Given the description of an element on the screen output the (x, y) to click on. 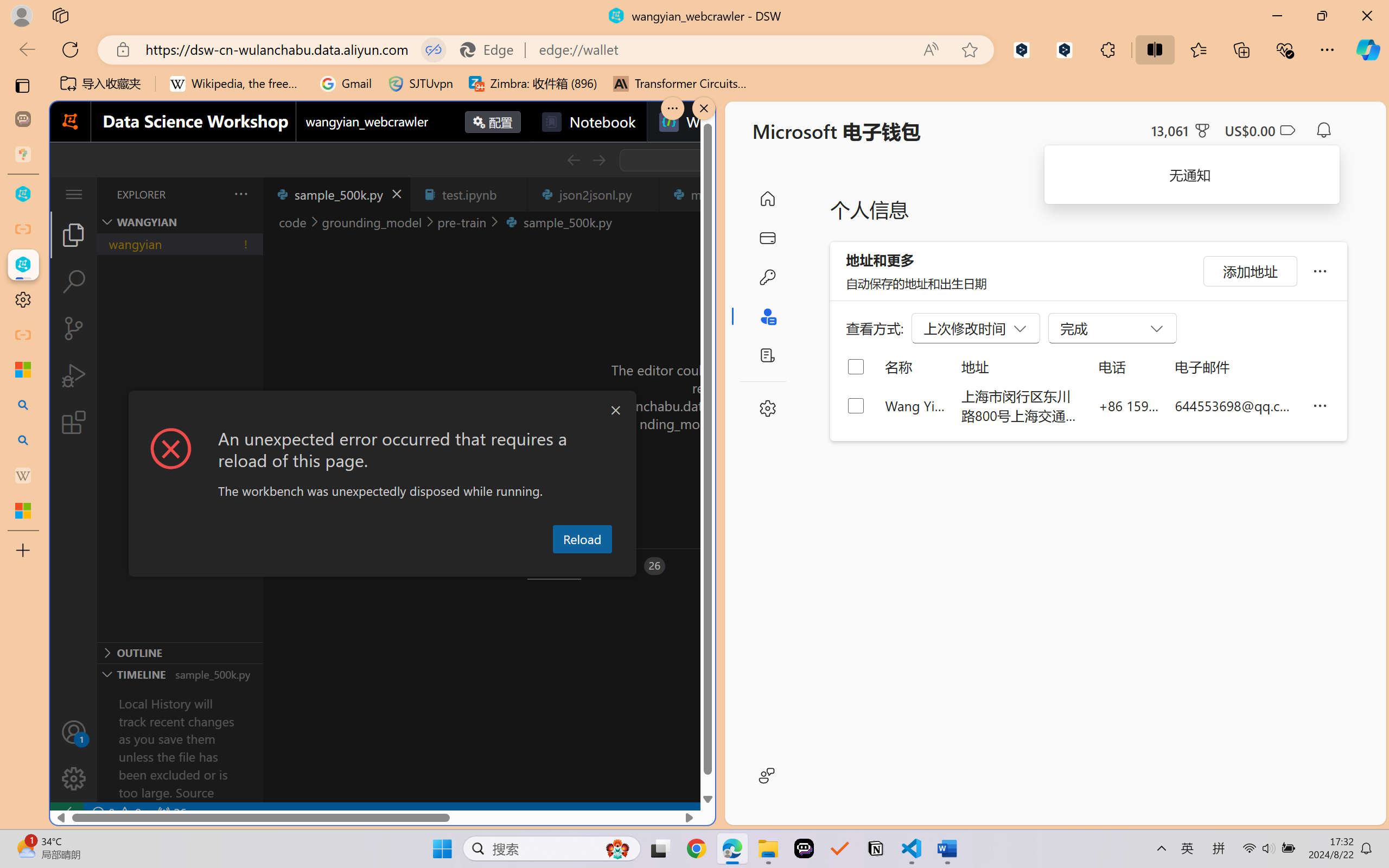
wangyian_dsw - DSW (22, 194)
Go Back (Alt+LeftArrow) (573, 159)
Close (Ctrl+F4) (644, 194)
remote (66, 812)
Debug Console (Ctrl+Shift+Y) (463, 565)
